Given the description of an element on the screen output the (x, y) to click on. 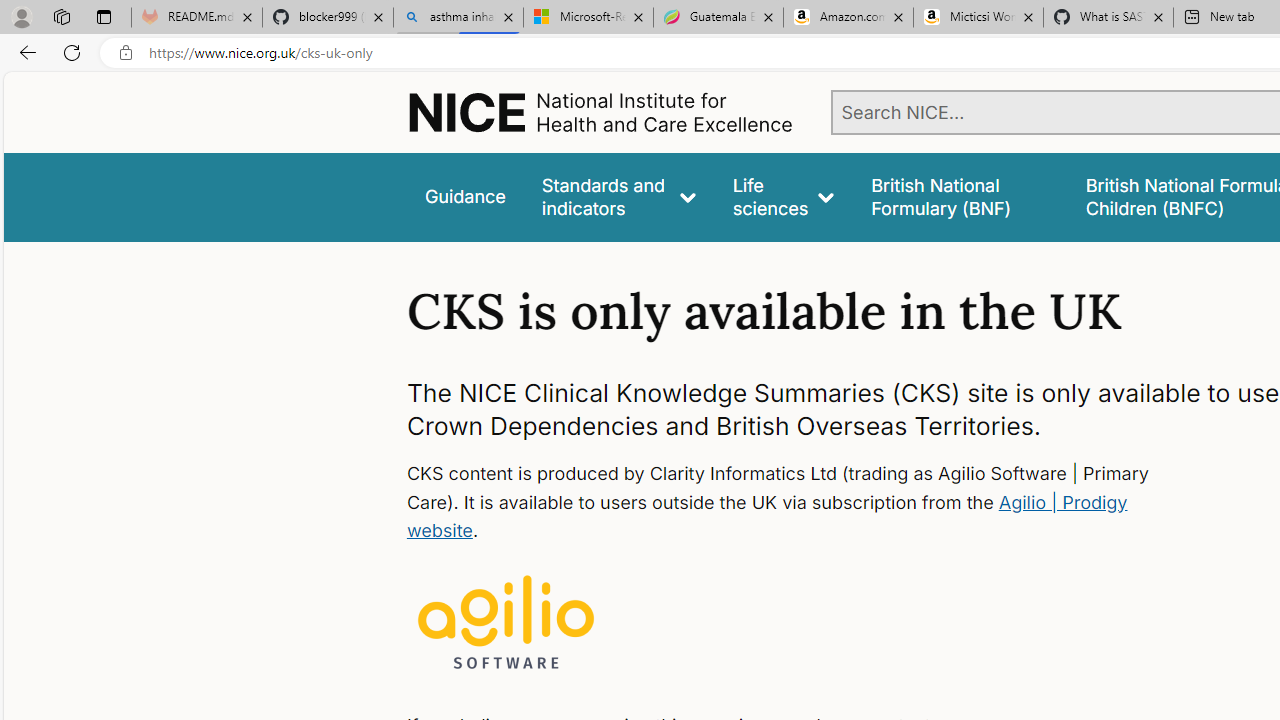
Home (599, 112)
Life sciences (783, 196)
false (959, 196)
Tab actions menu (104, 16)
Agilio | Prodigy website (766, 516)
Guidance (464, 196)
Workspaces (61, 16)
Guidance (464, 196)
Life sciences (783, 196)
